Given the description of an element on the screen output the (x, y) to click on. 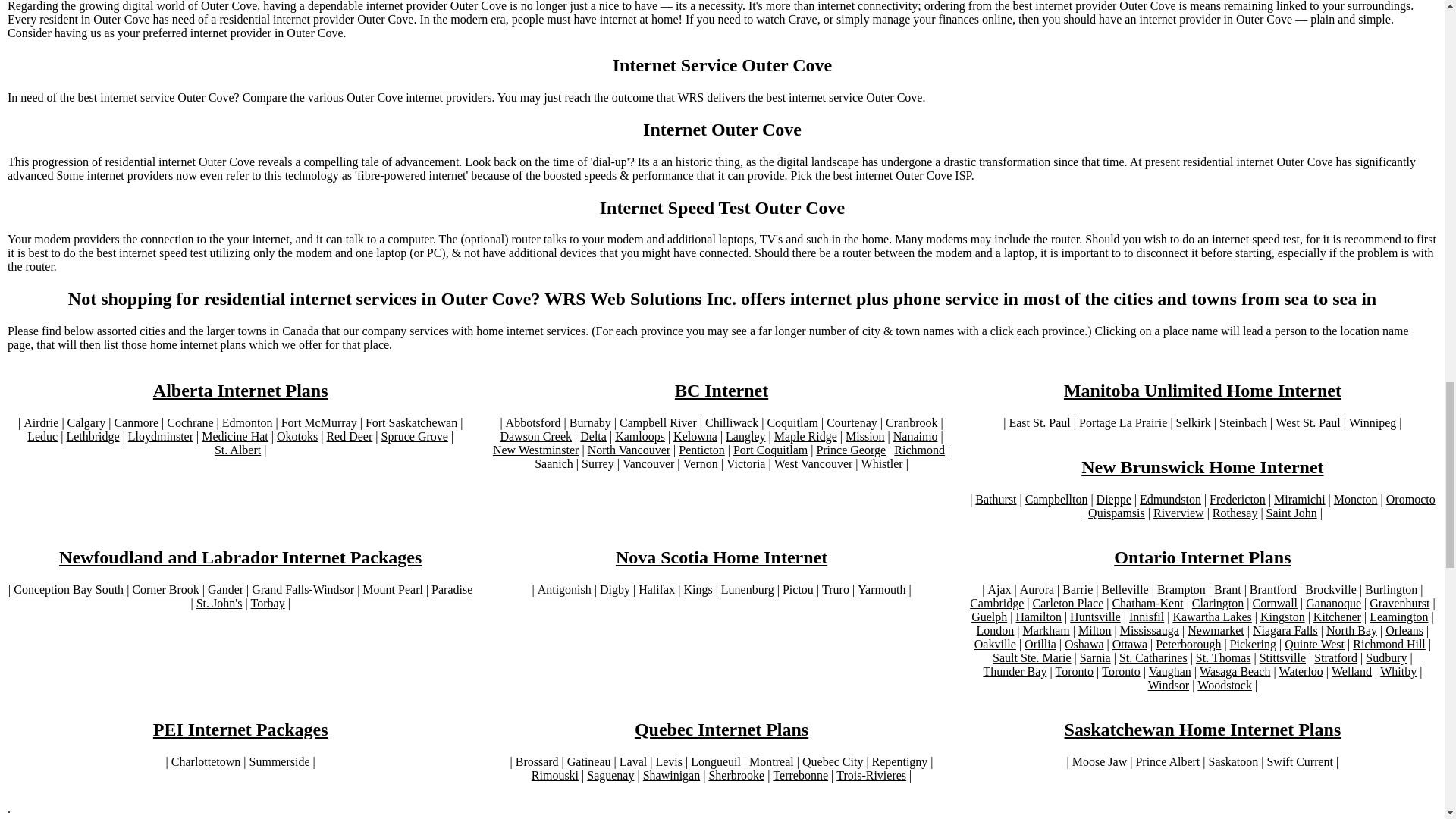
Lethbridge (92, 436)
Fort McMurray (318, 422)
Okotoks (296, 436)
Spruce Grove (413, 436)
Canmore (135, 422)
Alberta Internet Plans (240, 390)
Edmonton (247, 422)
Airdrie (40, 422)
Medicine Hat (234, 436)
Fort Saskatchewan (411, 422)
